Given the description of an element on the screen output the (x, y) to click on. 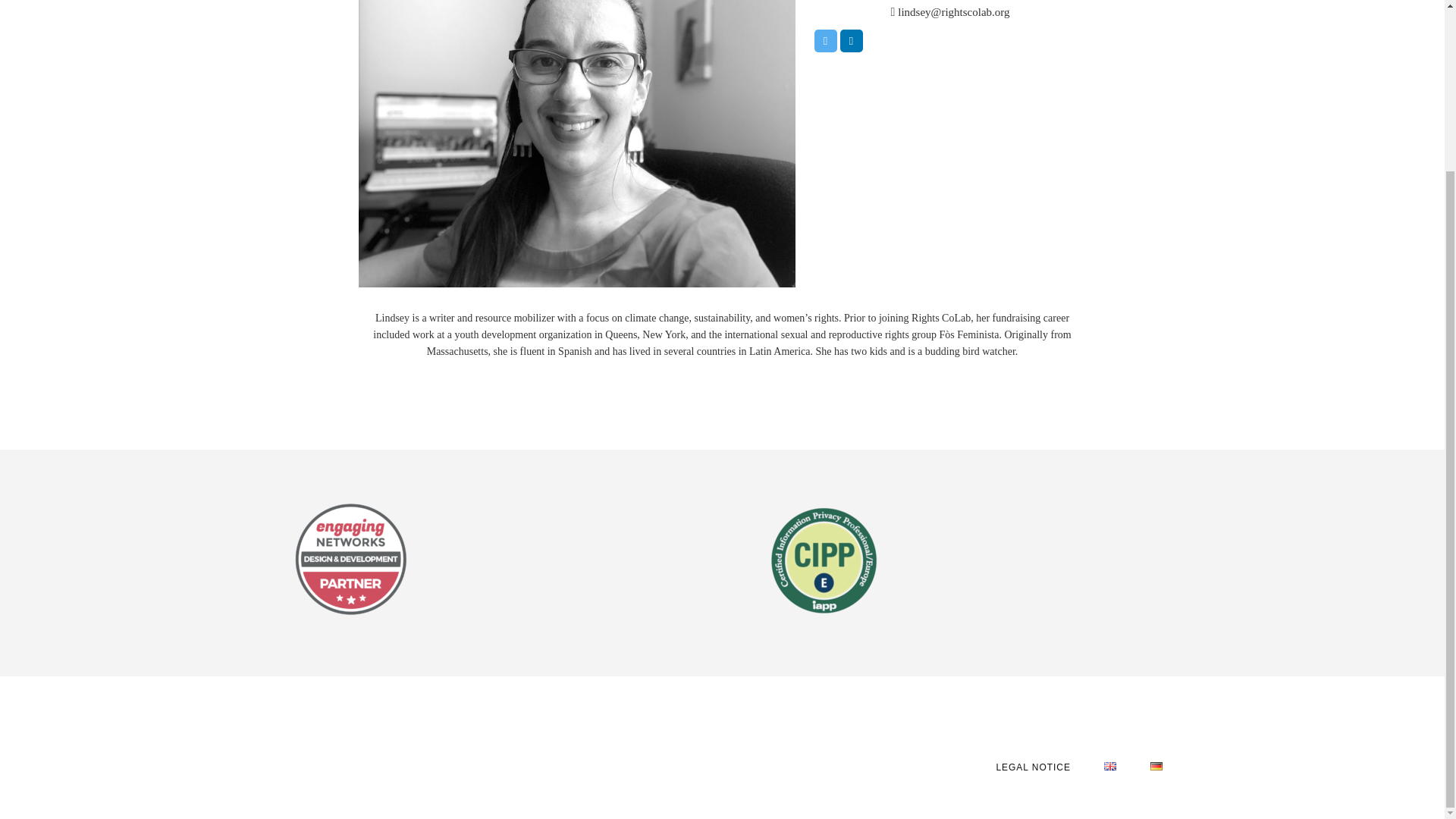
Twitter (825, 40)
LEGAL NOTICE (1031, 767)
Linkedin (851, 40)
